Given the description of an element on the screen output the (x, y) to click on. 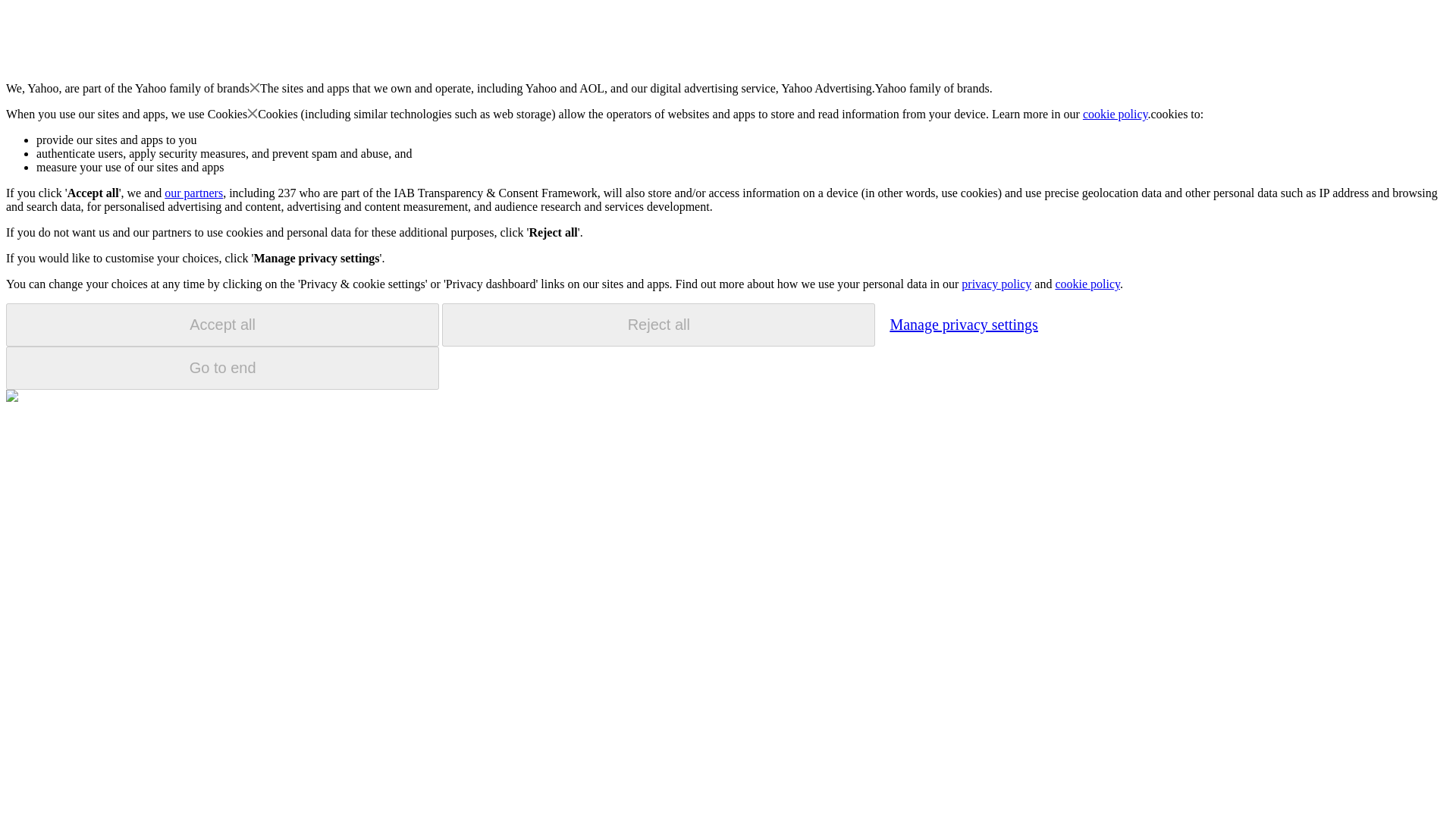
our partners (193, 192)
cookie policy (1115, 113)
Accept all (222, 324)
Reject all (658, 324)
cookie policy (1086, 283)
Manage privacy settings (963, 323)
Go to end (222, 367)
privacy policy (995, 283)
